Given the description of an element on the screen output the (x, y) to click on. 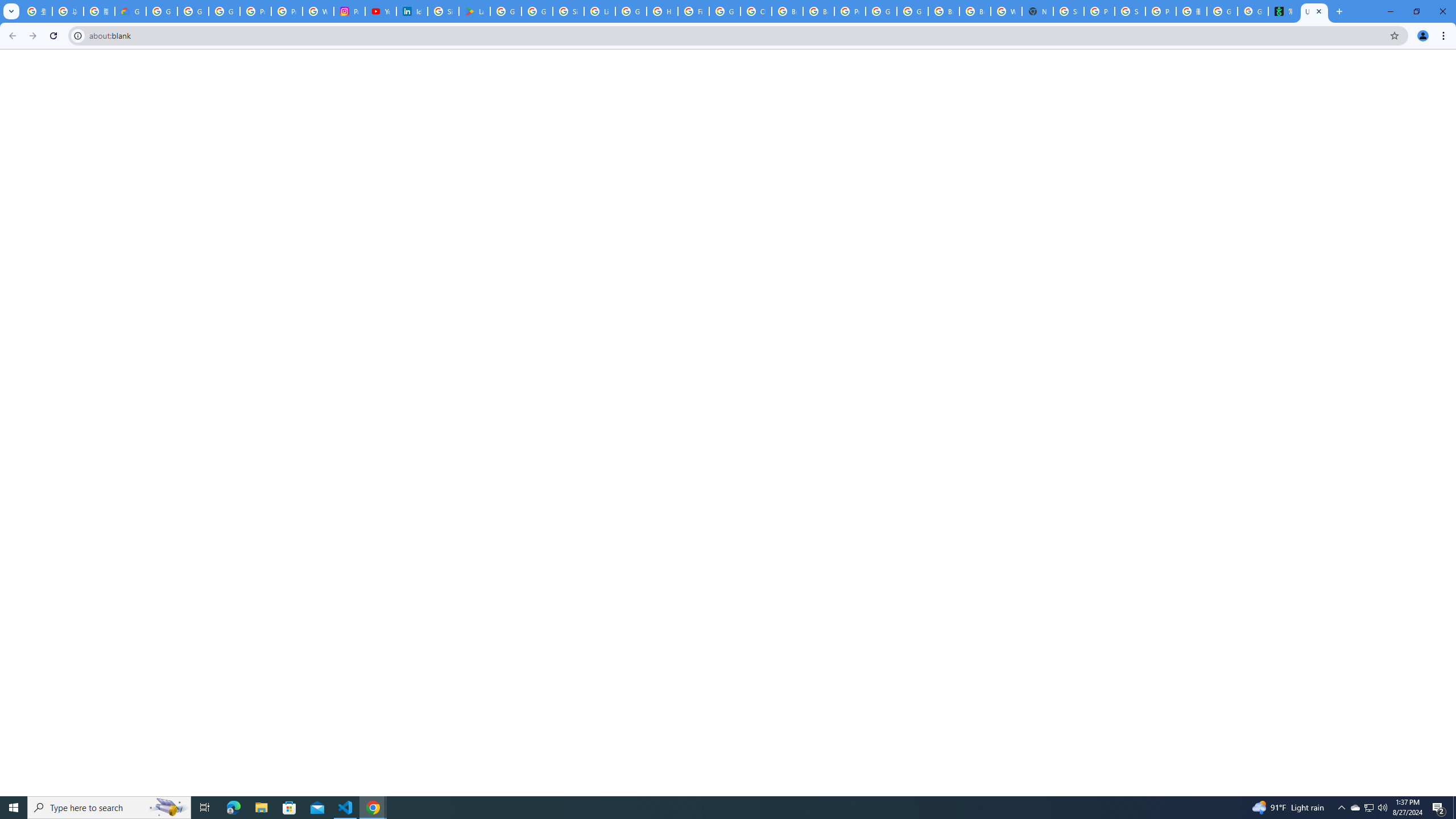
Sign in - Google Accounts (443, 11)
How do I create a new Google Account? - Google Account Help (662, 11)
Browse Chrome as a guest - Computer - Google Chrome Help (943, 11)
Sign in - Google Accounts (1068, 11)
YouTube Culture & Trends - On The Rise: Handcam Videos (380, 11)
